Given the description of an element on the screen output the (x, y) to click on. 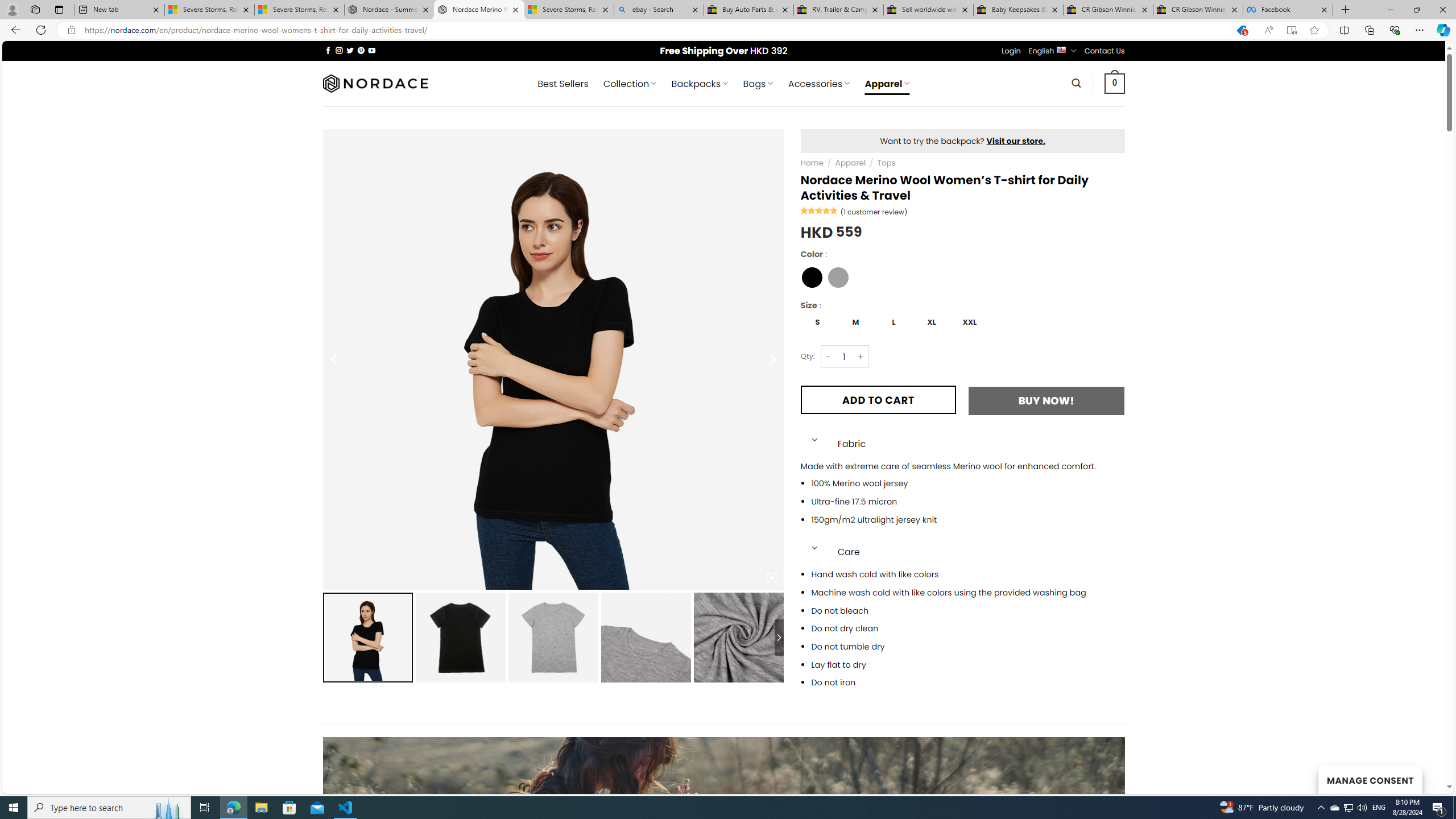
Do not iron (967, 682)
Ultra-fine 17.5 micron (967, 502)
ADD TO CART (878, 399)
 Best Sellers (562, 83)
Class: iconic-woothumbs-fullscreen (771, 577)
150gm/m2 ultralight jersey knit (967, 519)
